Given the description of an element on the screen output the (x, y) to click on. 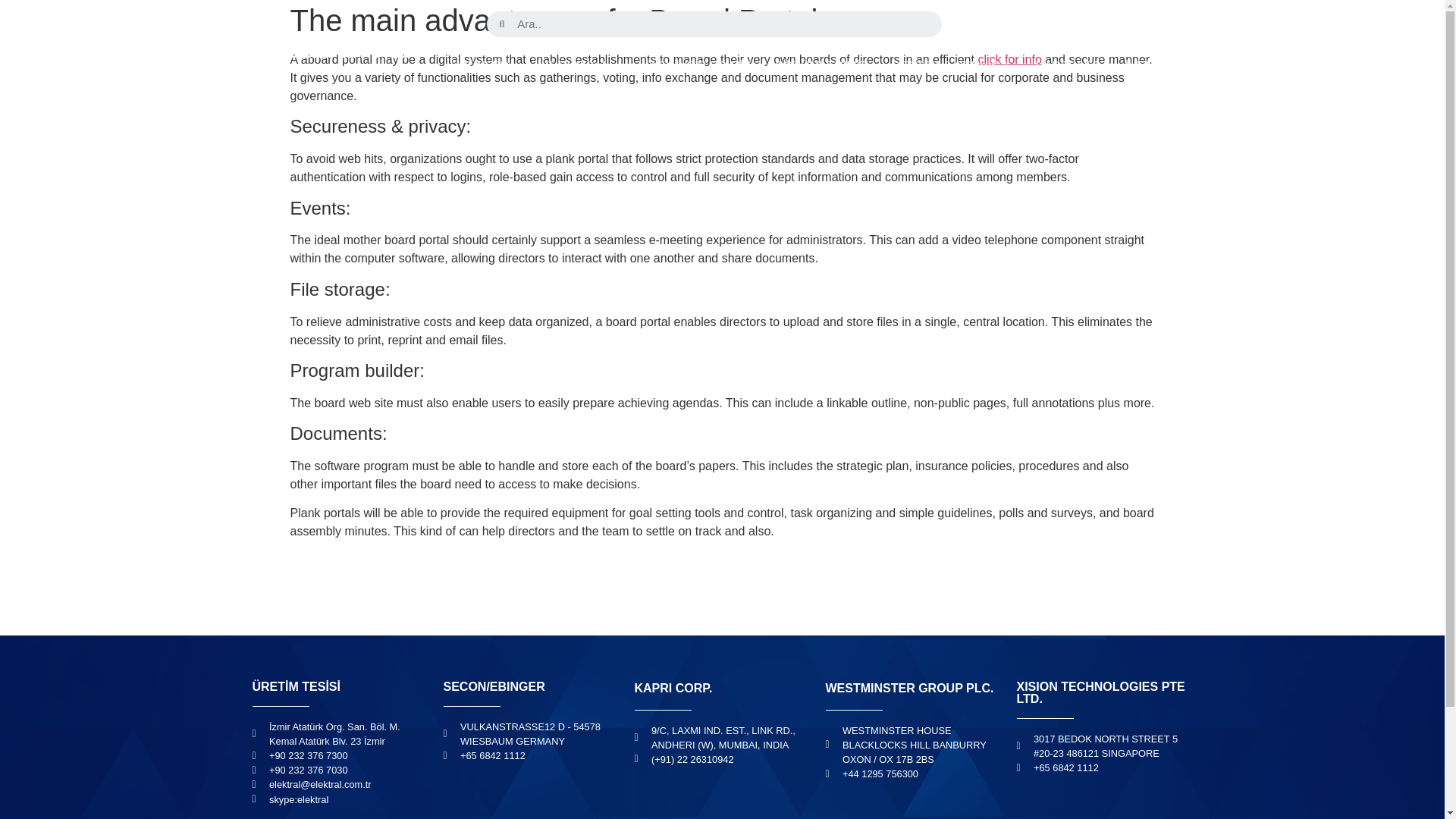
Search (723, 23)
